Given the description of an element on the screen output the (x, y) to click on. 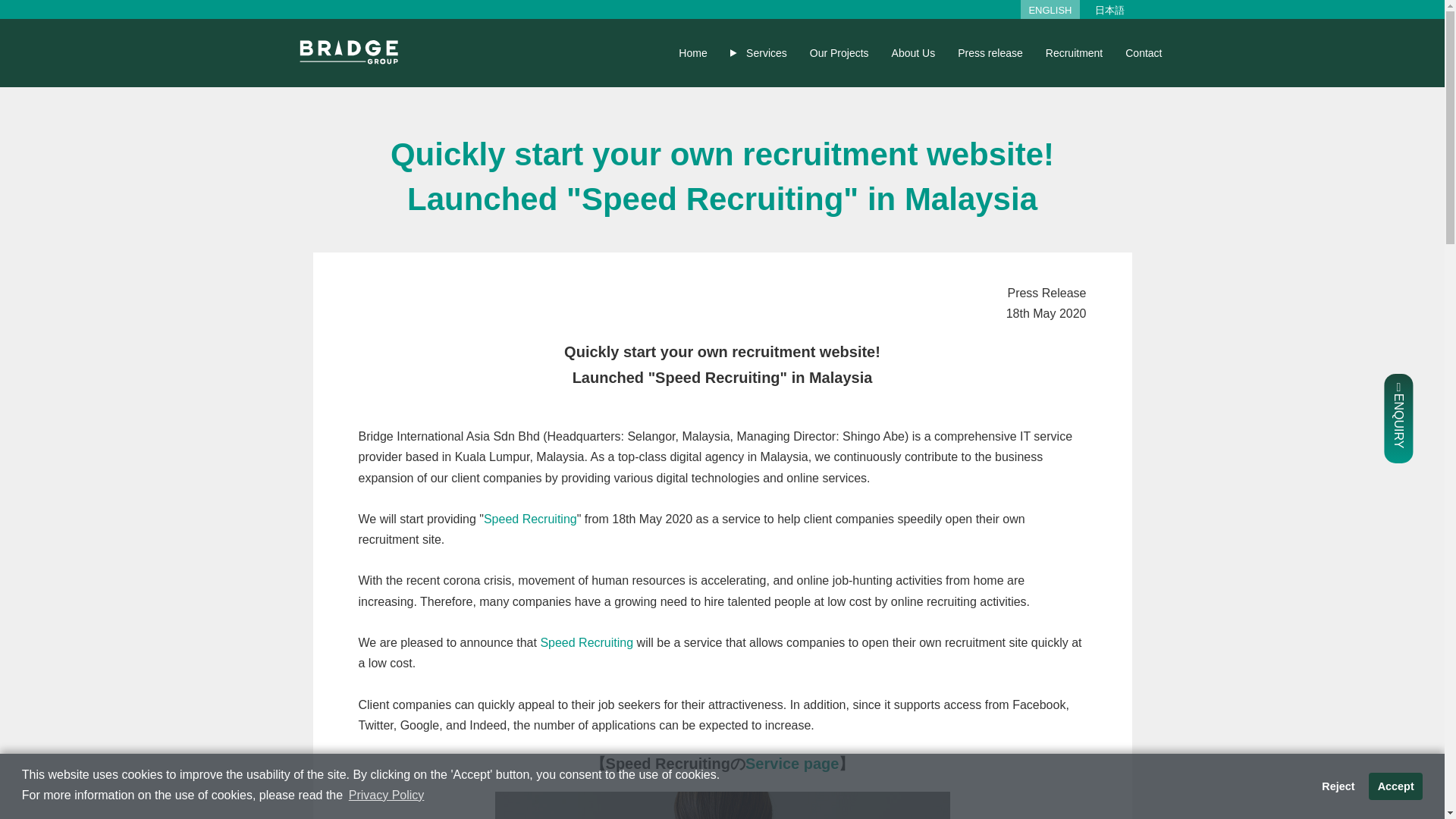
Press release (990, 52)
ENGLISH (1049, 9)
